Given the description of an element on the screen output the (x, y) to click on. 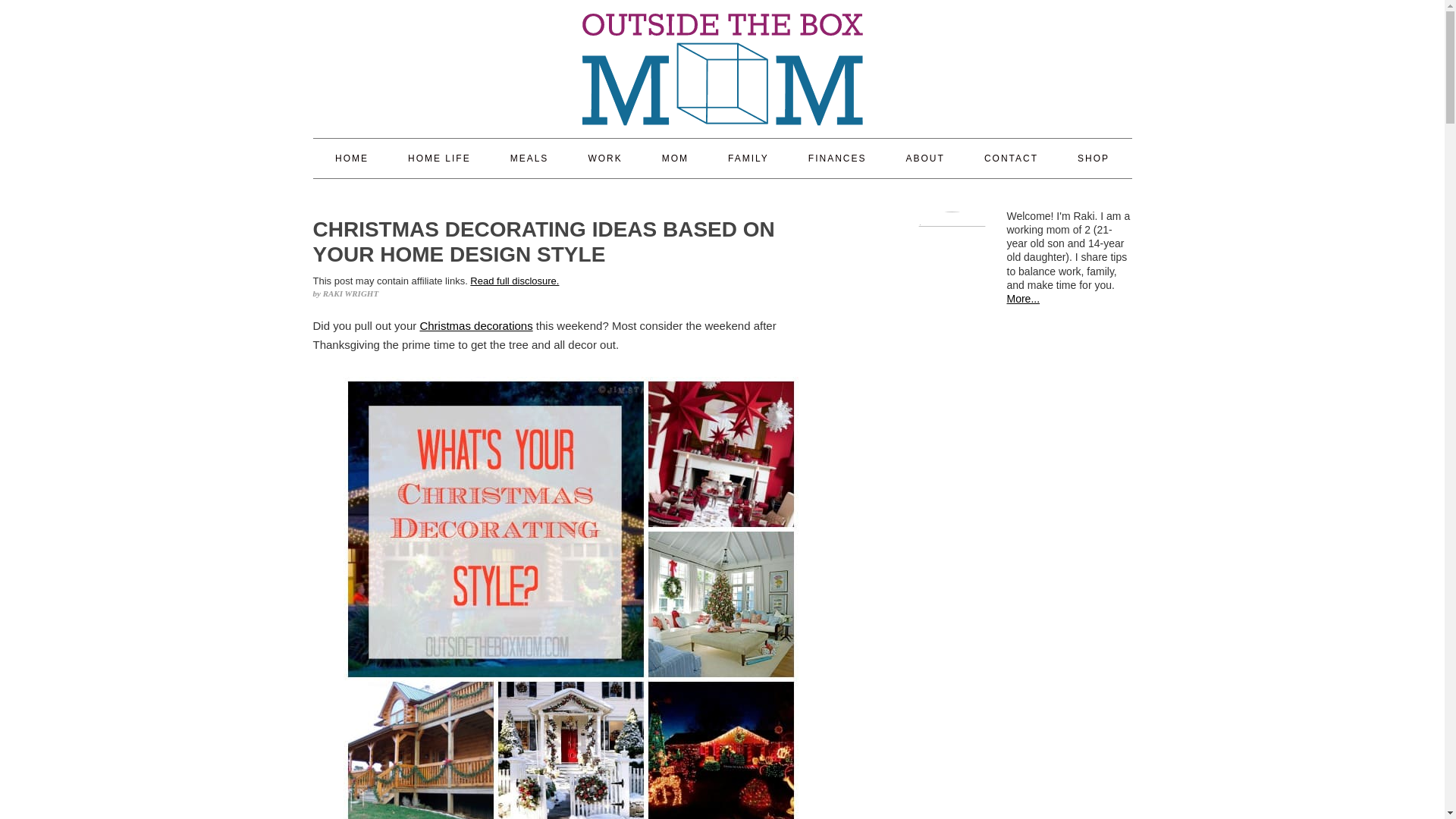
MEALS (529, 158)
HOME LIFE (438, 158)
FAMILY (748, 158)
HOME (351, 158)
WORK (604, 158)
MOM (675, 158)
